Given the description of an element on the screen output the (x, y) to click on. 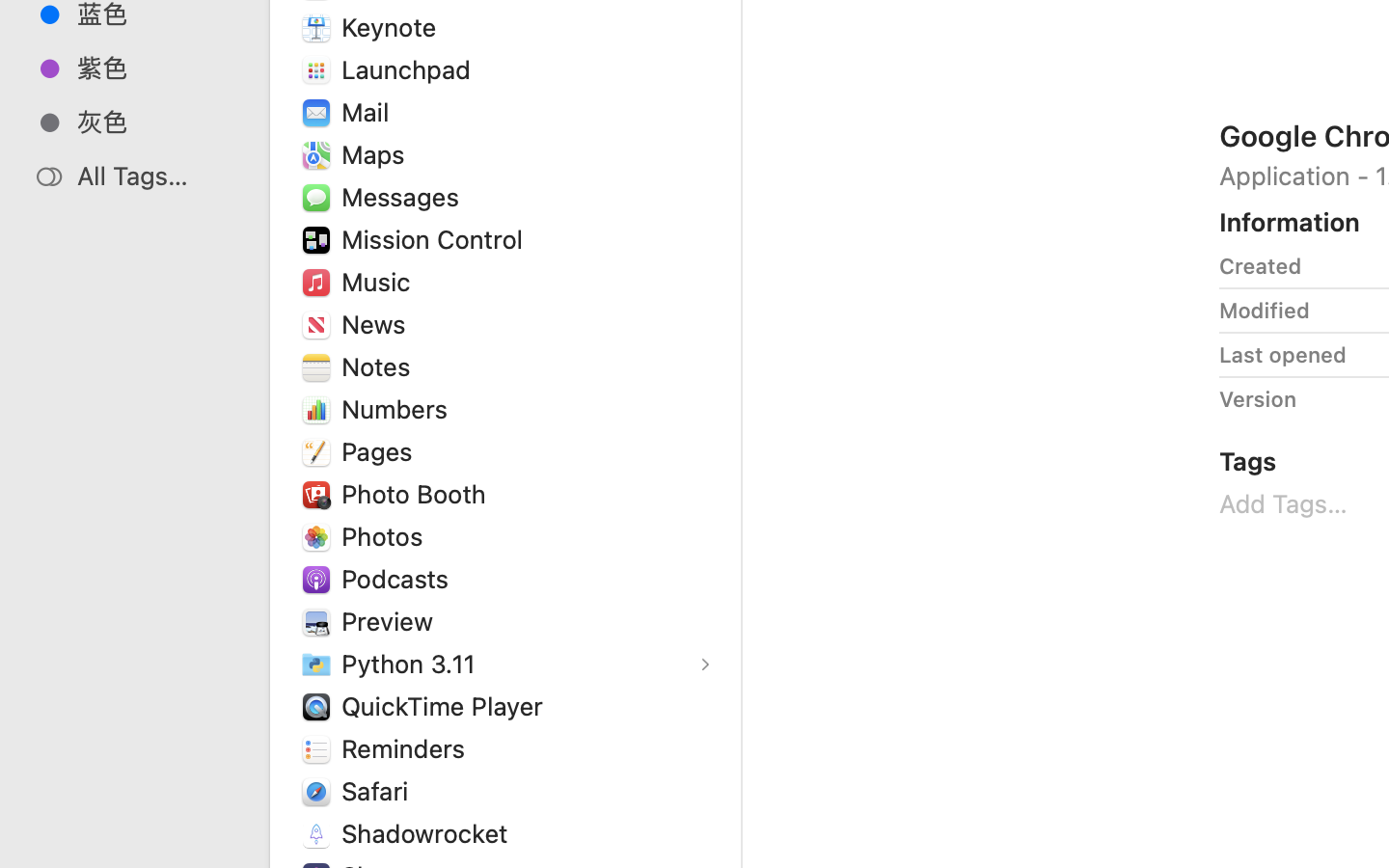
Notes Element type: AXTextField (379, 366)
Applications Element type: AXStaticText (875, 786)
Mail Element type: AXTextField (369, 111)
Photos Element type: AXTextField (386, 535)
Safari Element type: AXTextField (378, 790)
